Given the description of an element on the screen output the (x, y) to click on. 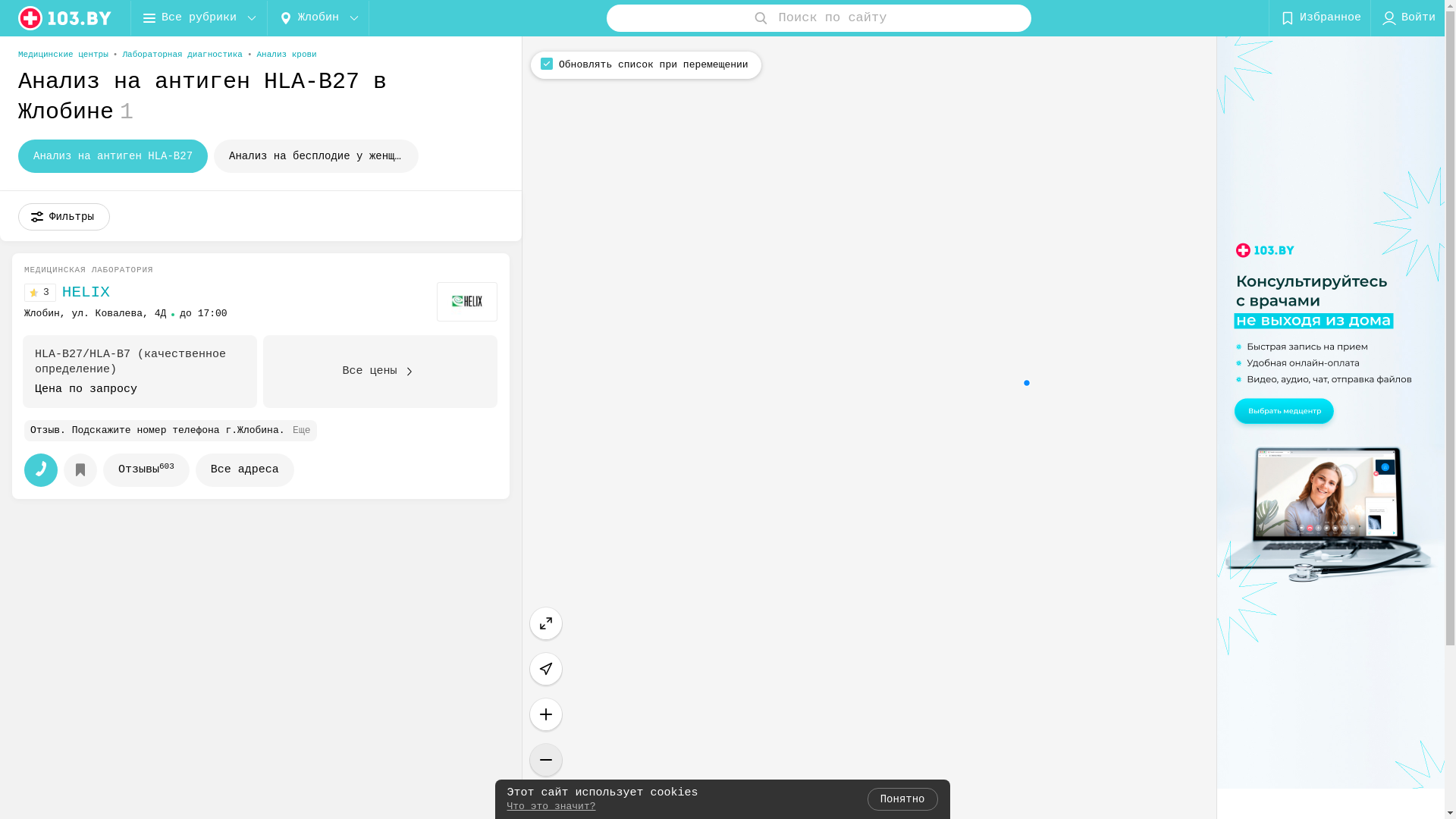
logo Element type: hover (65, 18)
HELIX Element type: text (85, 292)
3 Element type: text (43, 292)
